Given the description of an element on the screen output the (x, y) to click on. 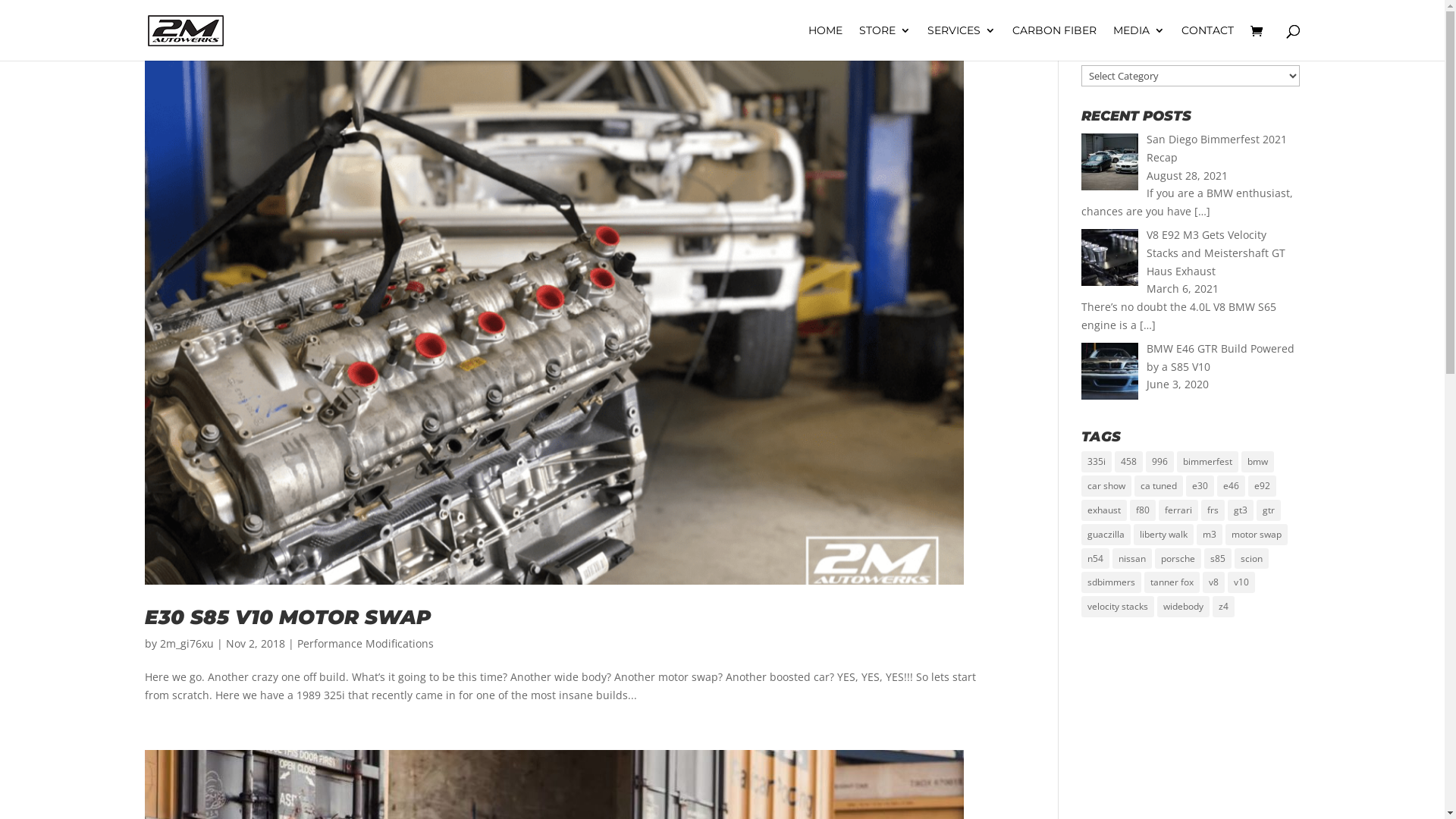
BMW E46 GTR Build Powered by a S85 V10 Element type: text (1220, 357)
SERVICES Element type: text (960, 42)
n54 Element type: text (1095, 558)
car show Element type: text (1106, 485)
scion Element type: text (1251, 558)
tanner fox Element type: text (1171, 582)
HOME Element type: text (825, 42)
m3 Element type: text (1209, 534)
458 Element type: text (1128, 461)
v8 Element type: text (1213, 582)
e30 Element type: text (1200, 485)
velocity stacks Element type: text (1117, 606)
s85 Element type: text (1217, 558)
exhaust Element type: text (1103, 509)
gtr Element type: text (1268, 509)
bimmerfest Element type: text (1207, 461)
gt3 Element type: text (1240, 509)
ca tuned Element type: text (1158, 485)
nissan Element type: text (1131, 558)
CONTACT Element type: text (1207, 42)
CARBON FIBER Element type: text (1053, 42)
guaczilla Element type: text (1105, 534)
porsche Element type: text (1177, 558)
ferrari Element type: text (1178, 509)
v10 Element type: text (1241, 582)
motor swap Element type: text (1256, 534)
Performance Modifications Element type: text (365, 643)
sdbimmers Element type: text (1111, 582)
E30 S85 V10 MOTOR SWAP Element type: text (286, 617)
San Diego Bimmerfest 2021 Recap Element type: text (1216, 147)
2m_gi76xu Element type: text (186, 643)
f80 Element type: text (1142, 509)
MEDIA Element type: text (1138, 42)
widebody Element type: text (1183, 606)
335i Element type: text (1096, 461)
e46 Element type: text (1231, 485)
z4 Element type: text (1223, 606)
e92 Element type: text (1262, 485)
frs Element type: text (1212, 509)
996 Element type: text (1159, 461)
STORE Element type: text (884, 42)
bmw Element type: text (1257, 461)
liberty walk Element type: text (1163, 534)
